Given the description of an element on the screen output the (x, y) to click on. 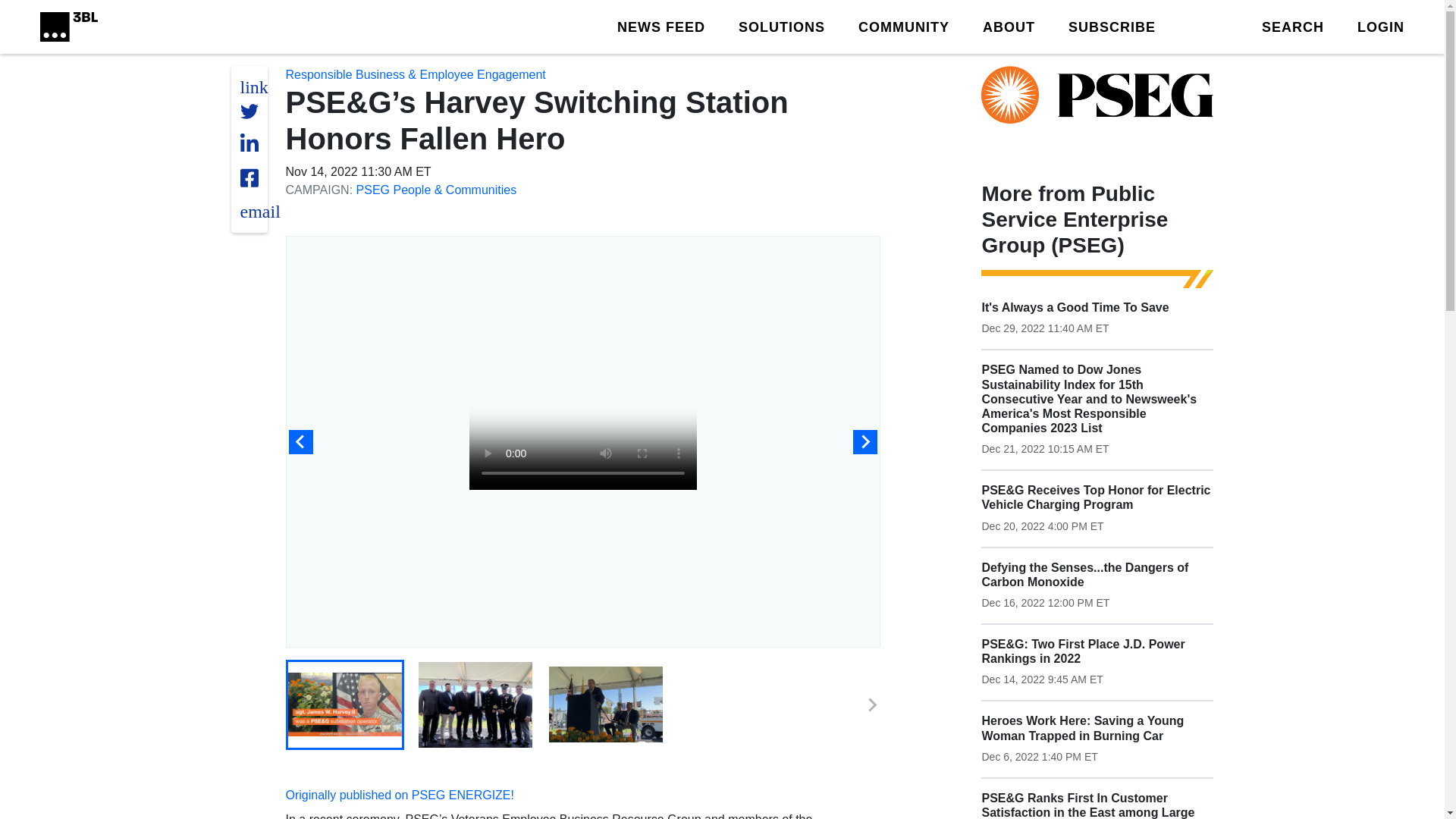
SUBSCRIBE (1112, 26)
ABOUT (1008, 26)
Photo: Bob Harvey speaking on behalf of the Harvey family (605, 704)
NEWS FEED (660, 26)
link to 3 B L Media's Twitter (253, 87)
SOLUTIONS (781, 26)
COMMUNITY (904, 26)
Share via email (259, 211)
